Given the description of an element on the screen output the (x, y) to click on. 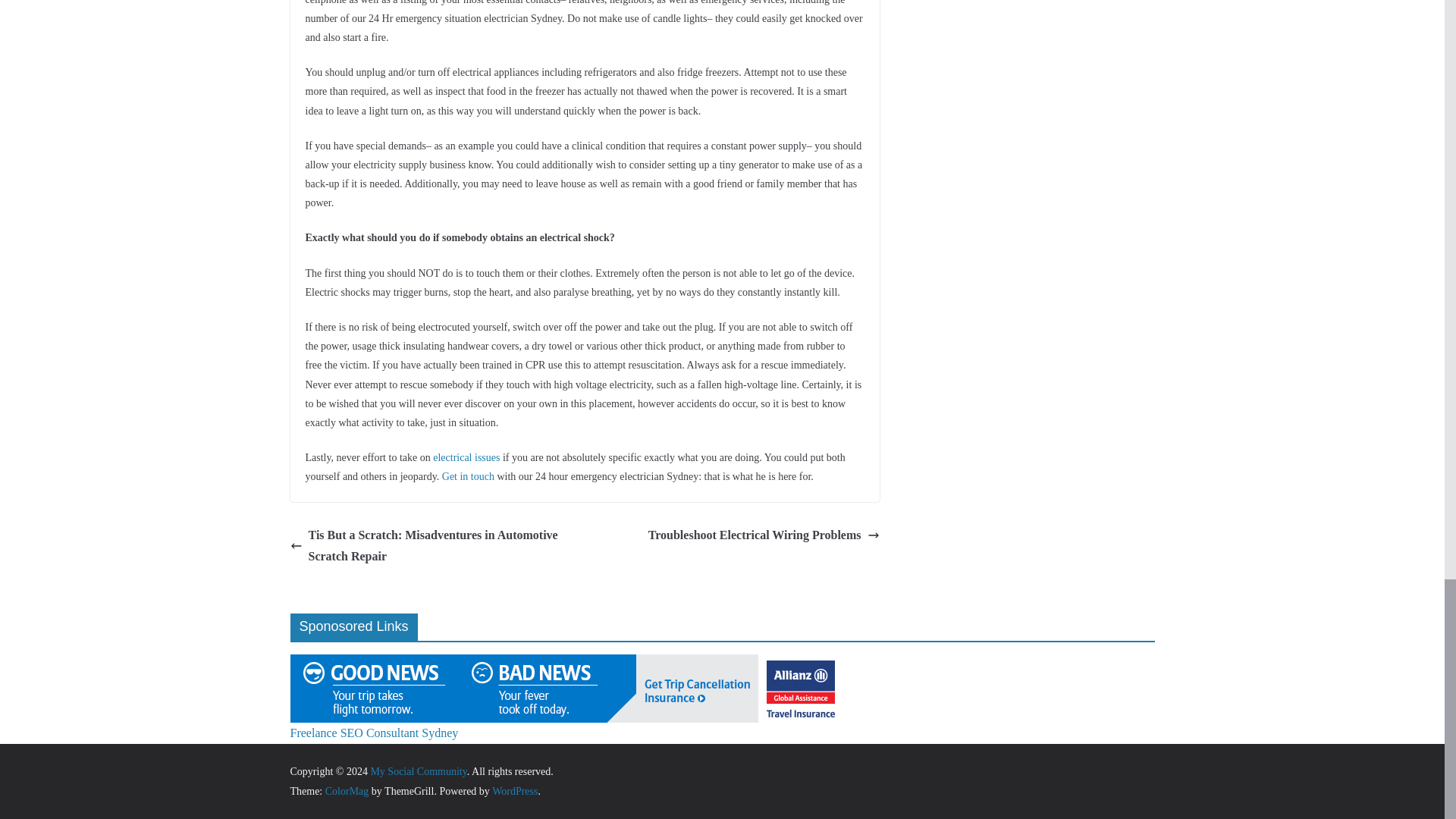
electrical issues (465, 457)
My Social Community (417, 771)
Freelance SEO Consultant Sydney (373, 732)
ColorMag (346, 790)
WordPress (514, 790)
My Social Community (417, 771)
WordPress (514, 790)
ColorMag (346, 790)
Get in touch (468, 476)
